Given the description of an element on the screen output the (x, y) to click on. 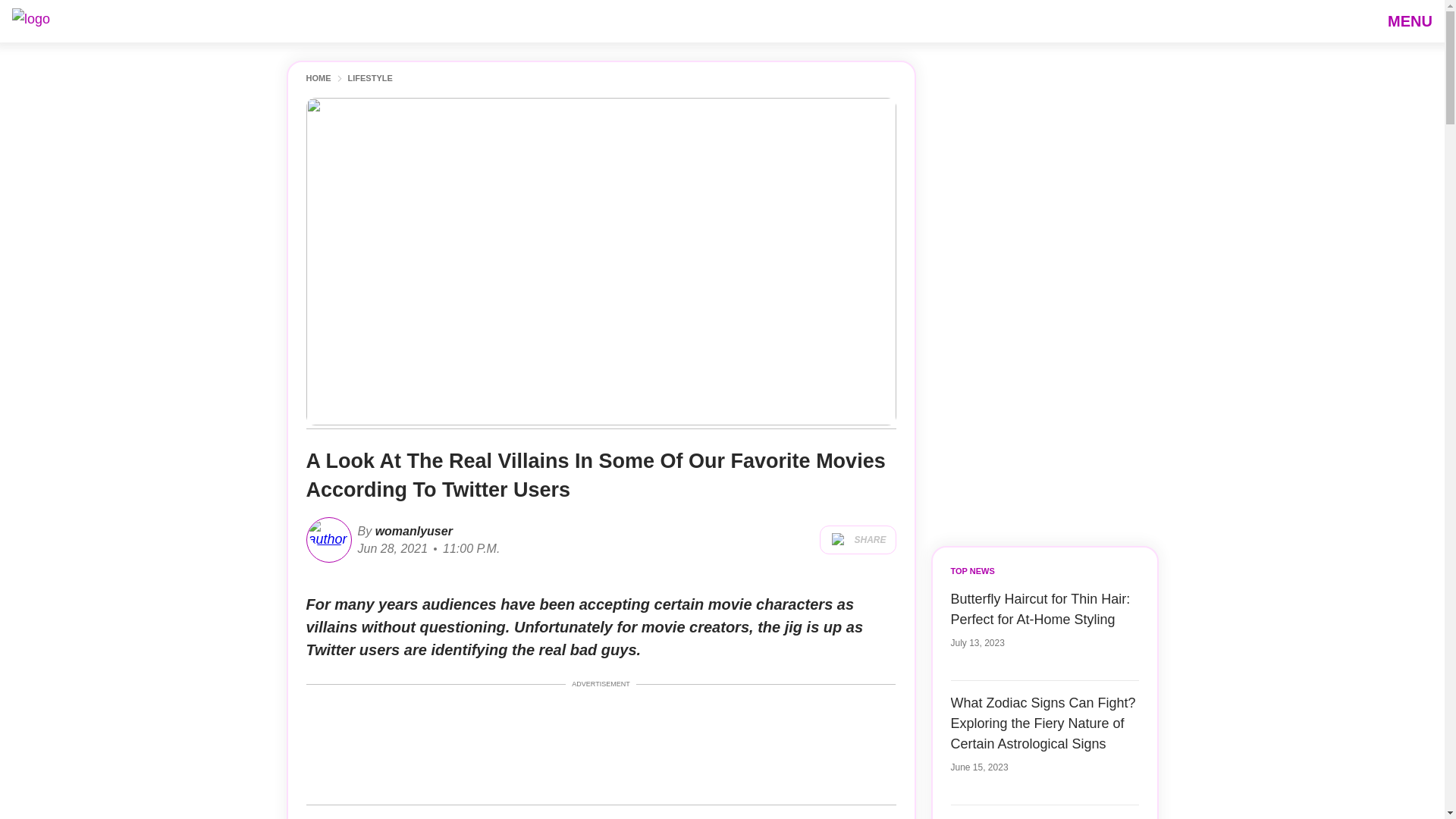
womanlyuser (411, 530)
SHARE (857, 539)
LIFESTYLE (369, 78)
HOME (318, 78)
MENU (1409, 20)
